Given the description of an element on the screen output the (x, y) to click on. 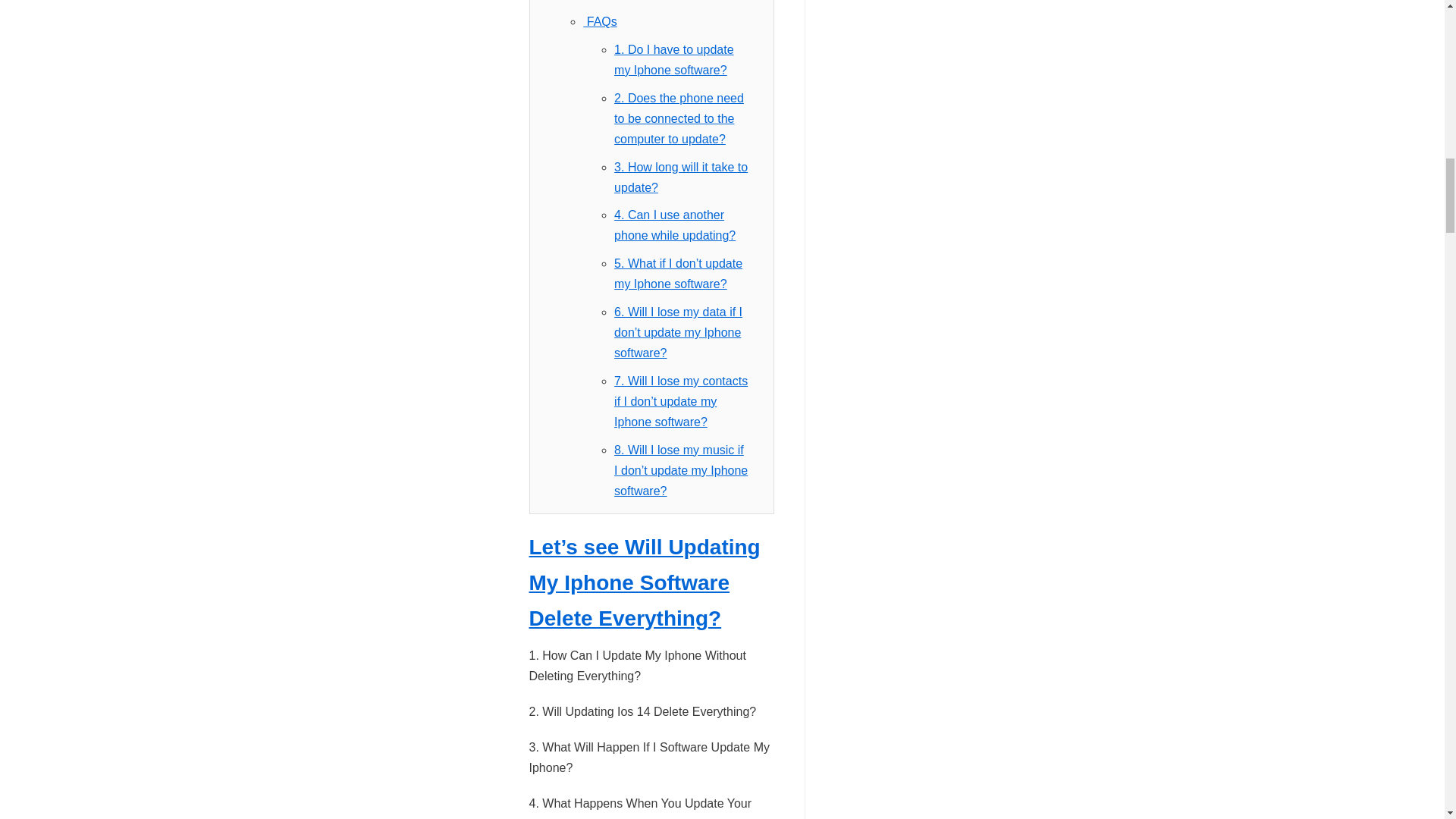
 FAQs (599, 21)
1. Do I have to update my Iphone software? (673, 59)
